Given the description of an element on the screen output the (x, y) to click on. 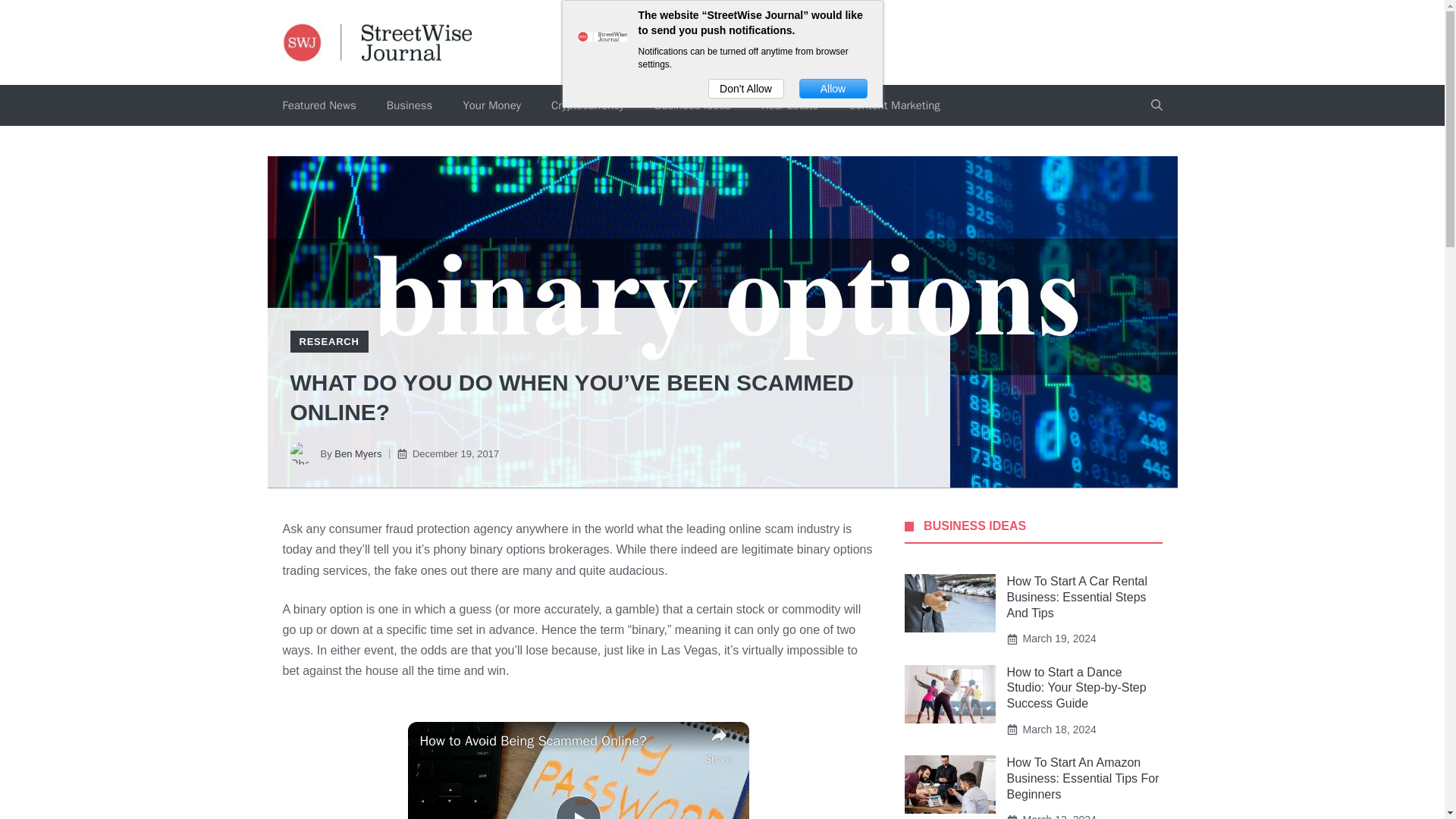
RESEARCH (328, 341)
How to Avoid Being Scammed Online? (558, 741)
Cryptocurrency (587, 105)
Business (409, 105)
Ben Myers (357, 453)
Content Marketing (893, 105)
Play Video (576, 807)
Real Estate (788, 105)
Share (718, 745)
Your Money (490, 105)
Featured News (318, 105)
share (718, 745)
Play Video (576, 807)
Business Ideas (692, 105)
